Given the description of an element on the screen output the (x, y) to click on. 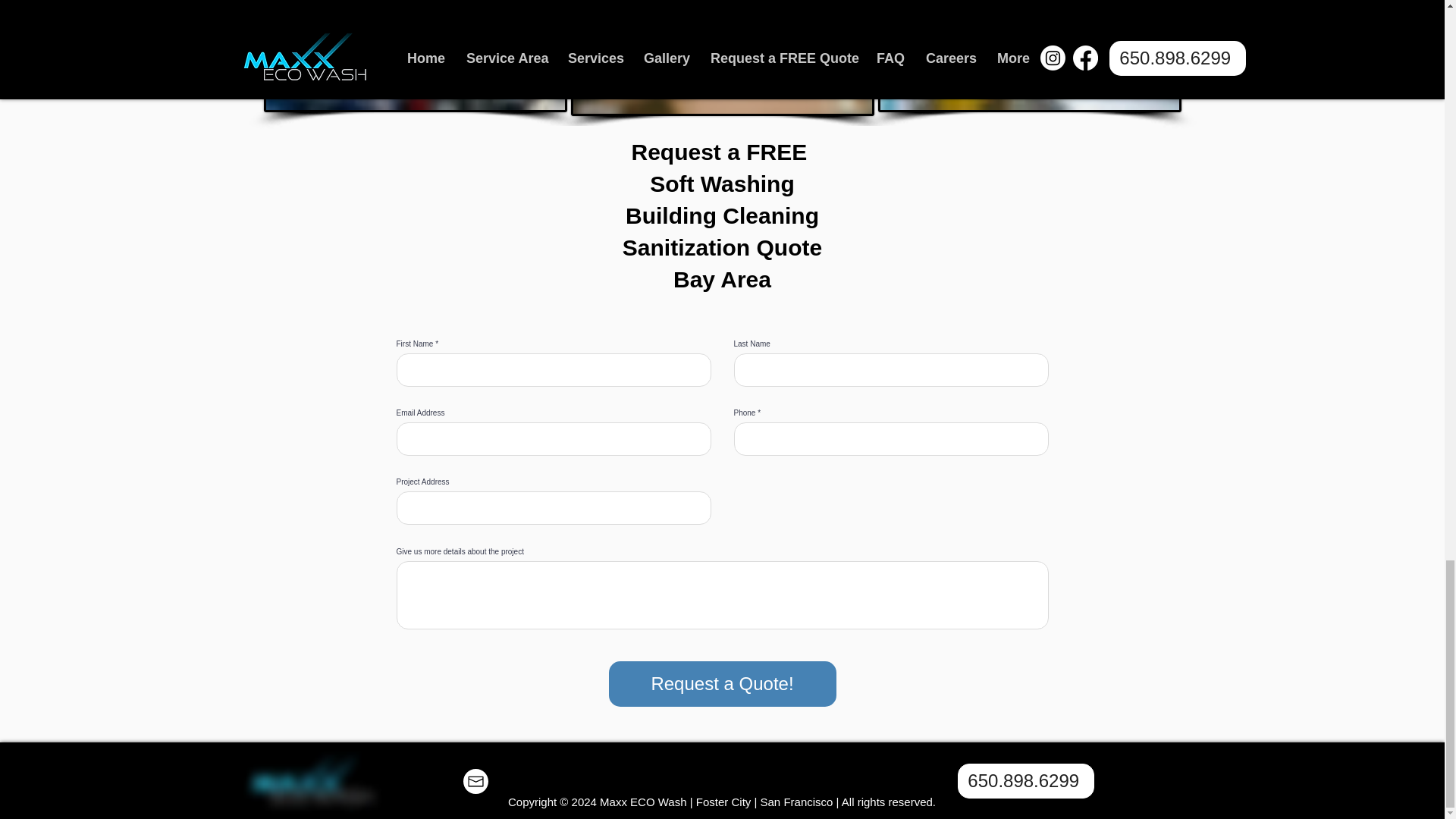
Soft Wash Chemical Disinfection (1028, 56)
